Given the description of an element on the screen output the (x, y) to click on. 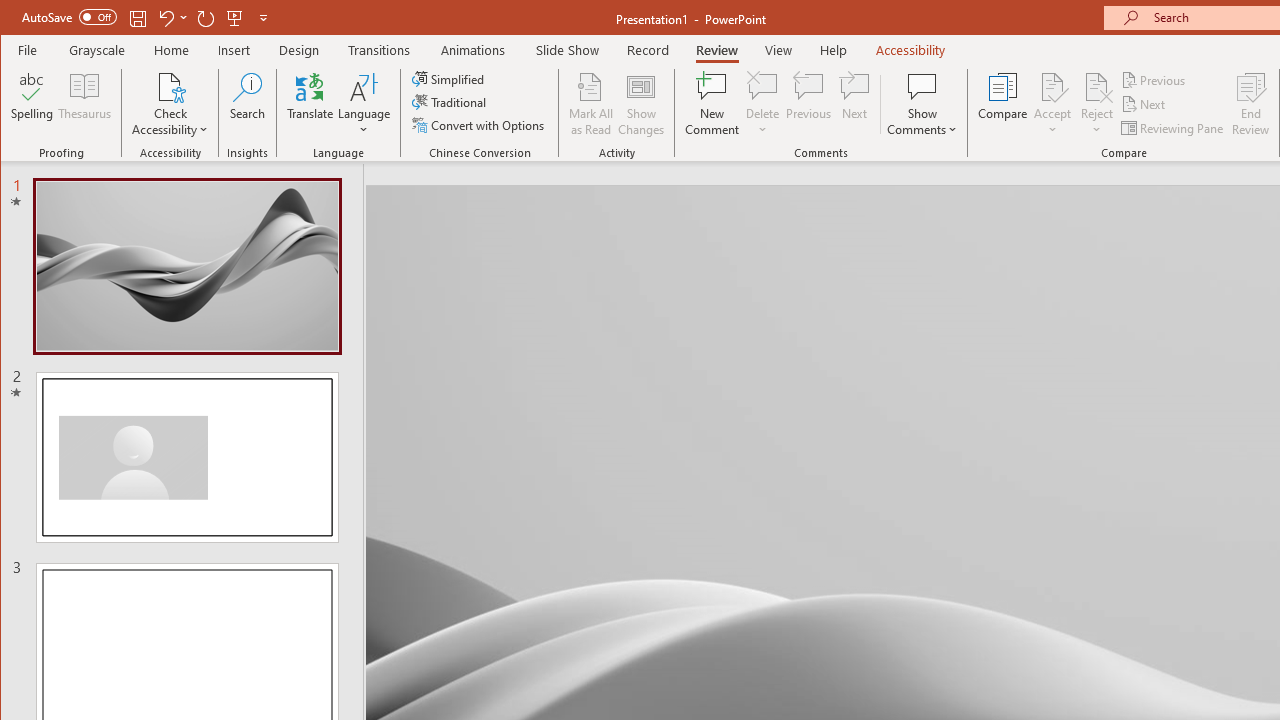
Convert with Options... (479, 124)
Simplified (450, 78)
